Given the description of an element on the screen output the (x, y) to click on. 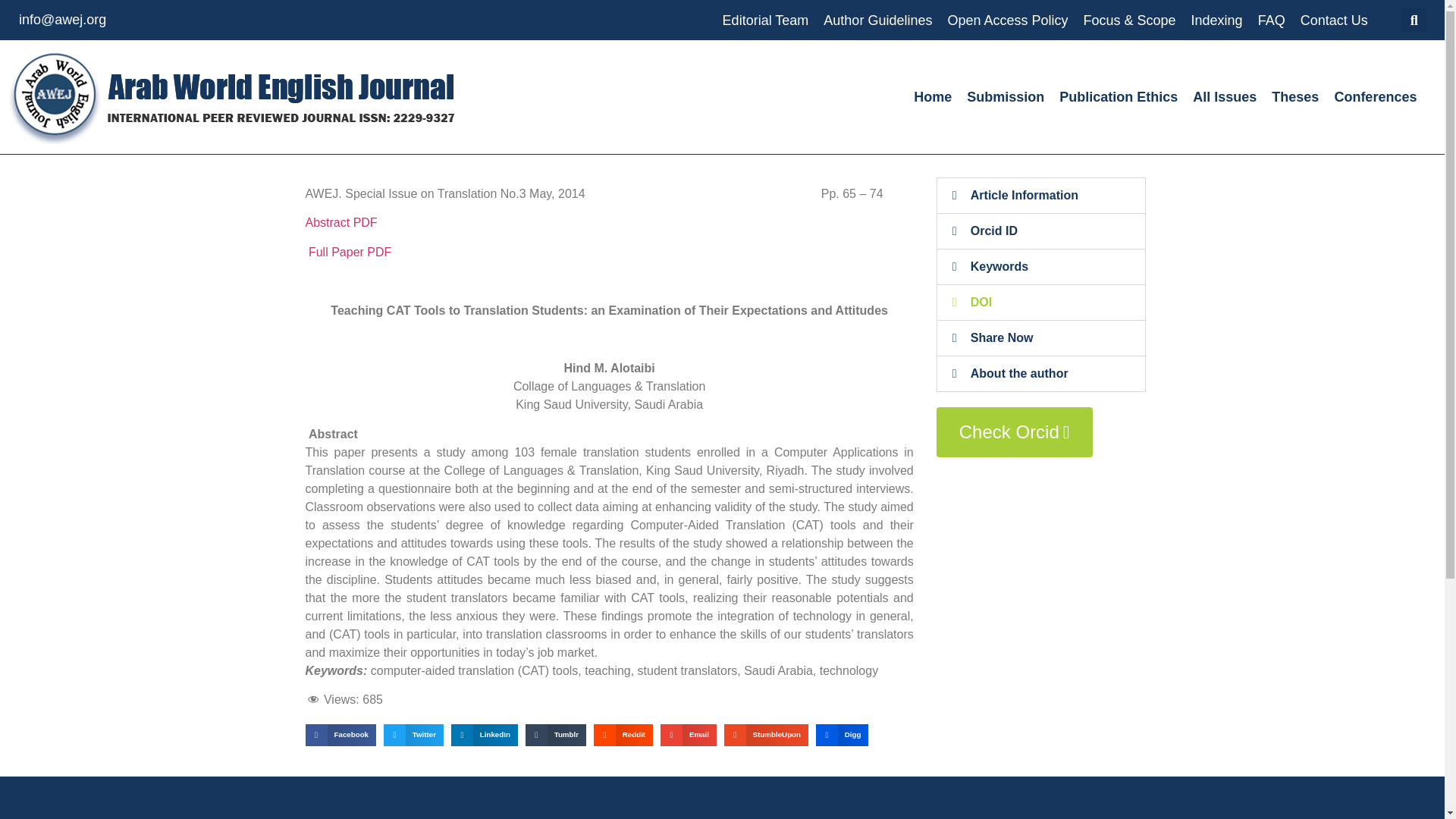
Author Guidelines (877, 19)
Contact Us (1333, 19)
Editorial Team (765, 19)
Open Access Policy (1007, 19)
FAQ (1271, 19)
Indexing (1216, 19)
